Given the description of an element on the screen output the (x, y) to click on. 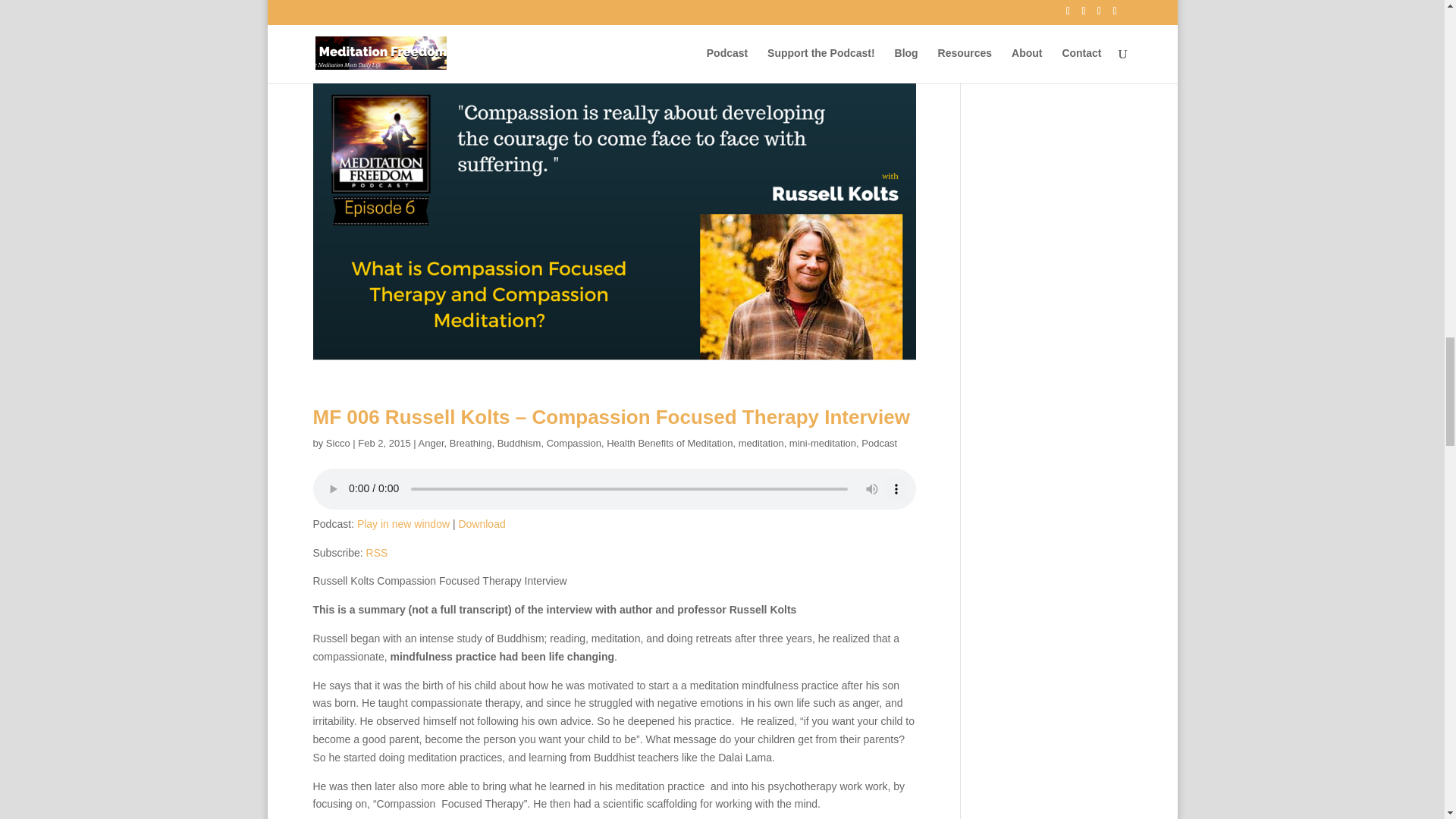
Posts by Sicco (338, 442)
Sicco (338, 442)
Compassion (574, 442)
Play in new window (402, 523)
meditation (761, 442)
Play in new window (402, 523)
Download (481, 523)
Buddhism (519, 442)
Breathing (470, 442)
Podcast (878, 442)
